Given the description of an element on the screen output the (x, y) to click on. 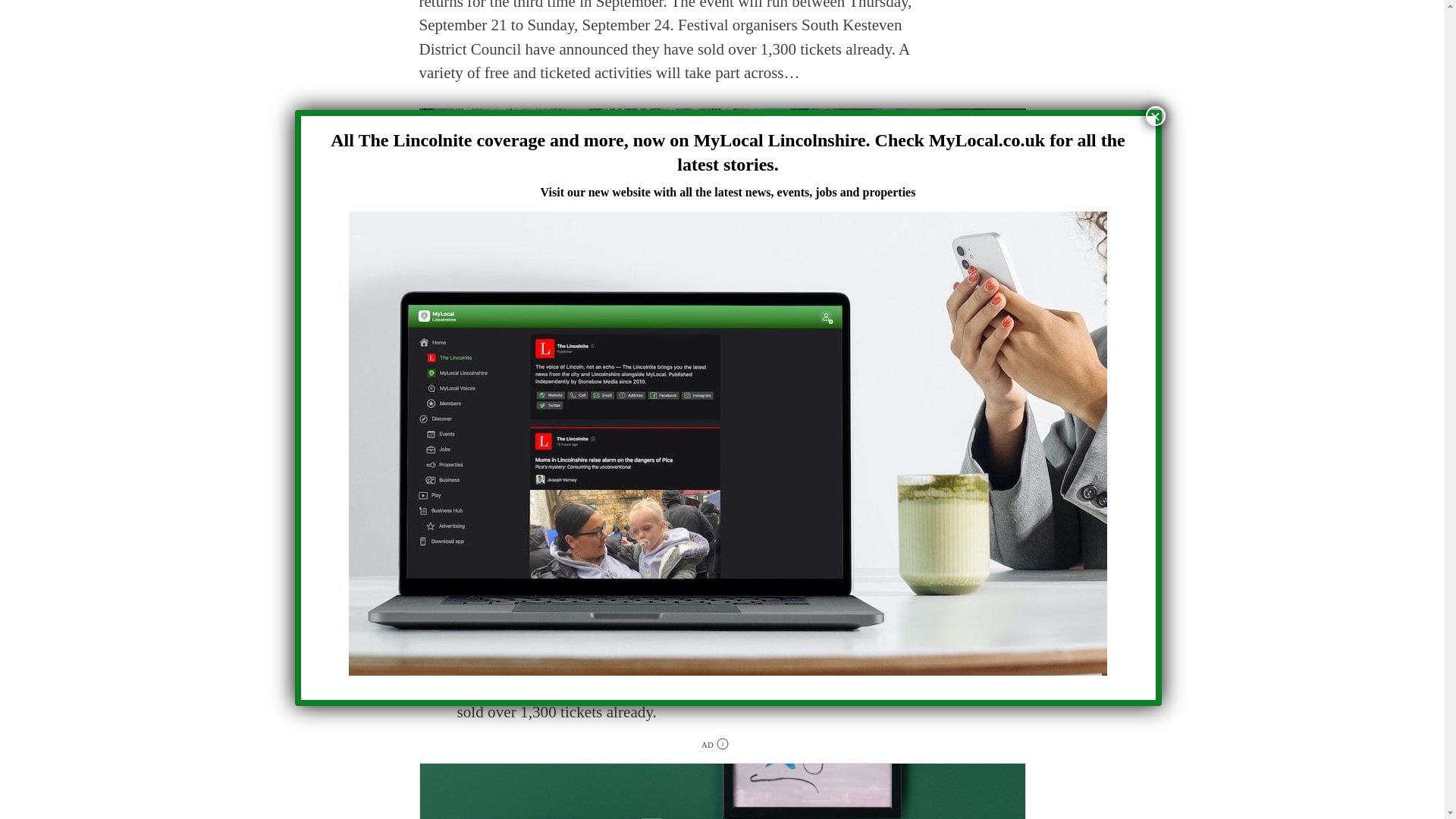
Contact author (614, 524)
